Given the description of an element on the screen output the (x, y) to click on. 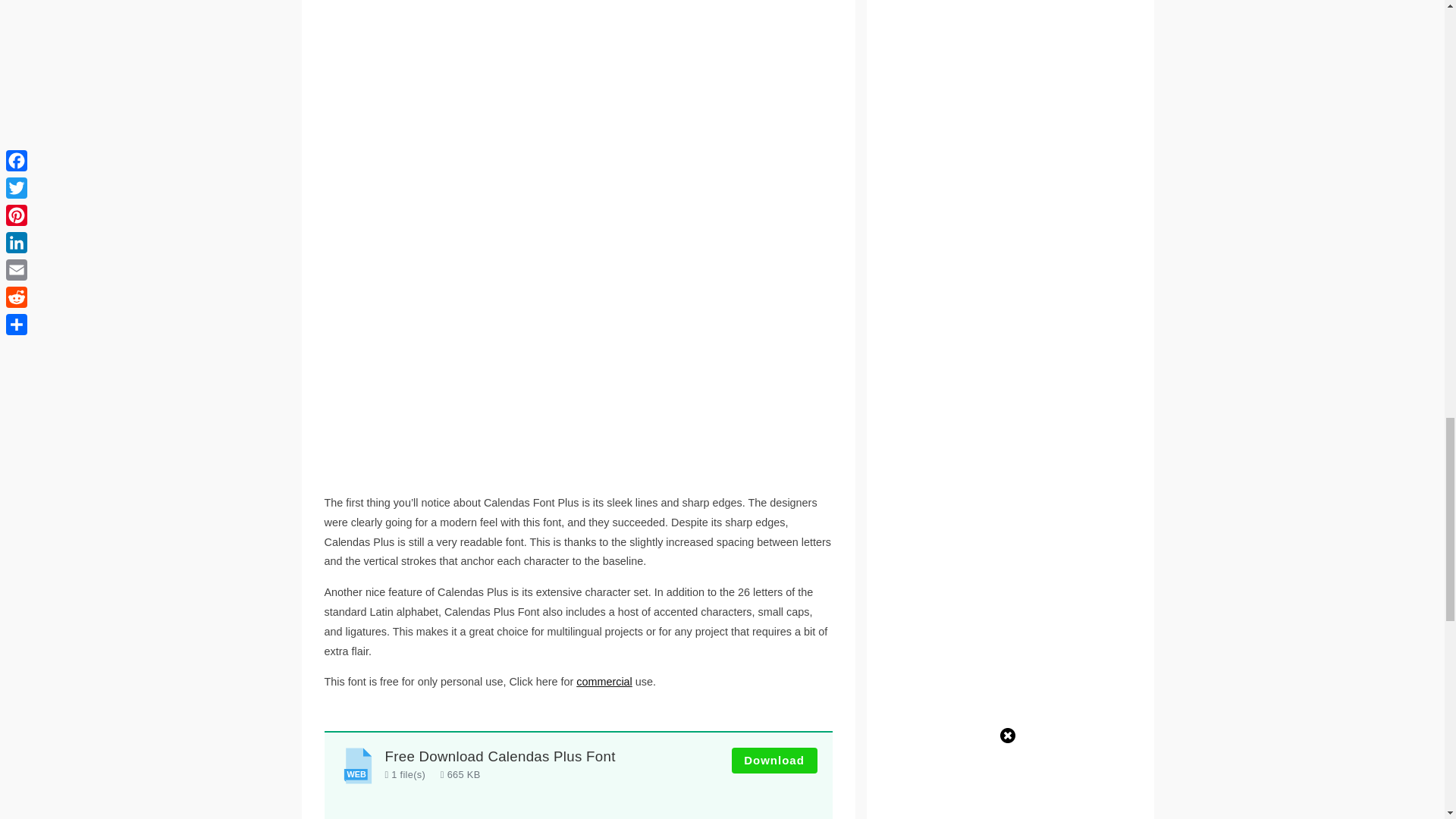
Free Download Calendas Plus Font (500, 756)
commercial (603, 681)
Download (773, 760)
